Given the description of an element on the screen output the (x, y) to click on. 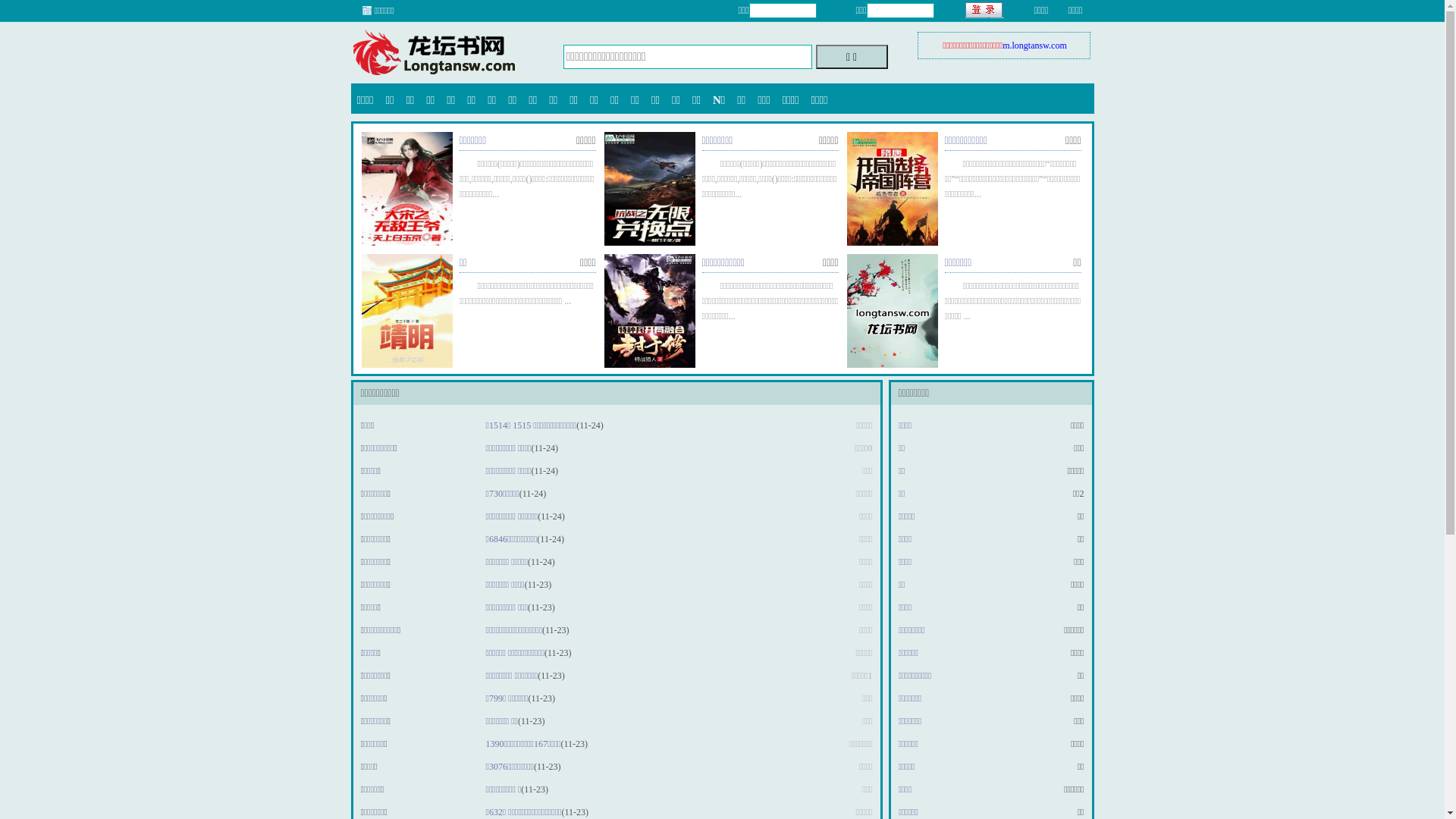
m.longtansw.com Element type: text (1034, 45)
  Element type: text (983, 10)
